Given the description of an element on the screen output the (x, y) to click on. 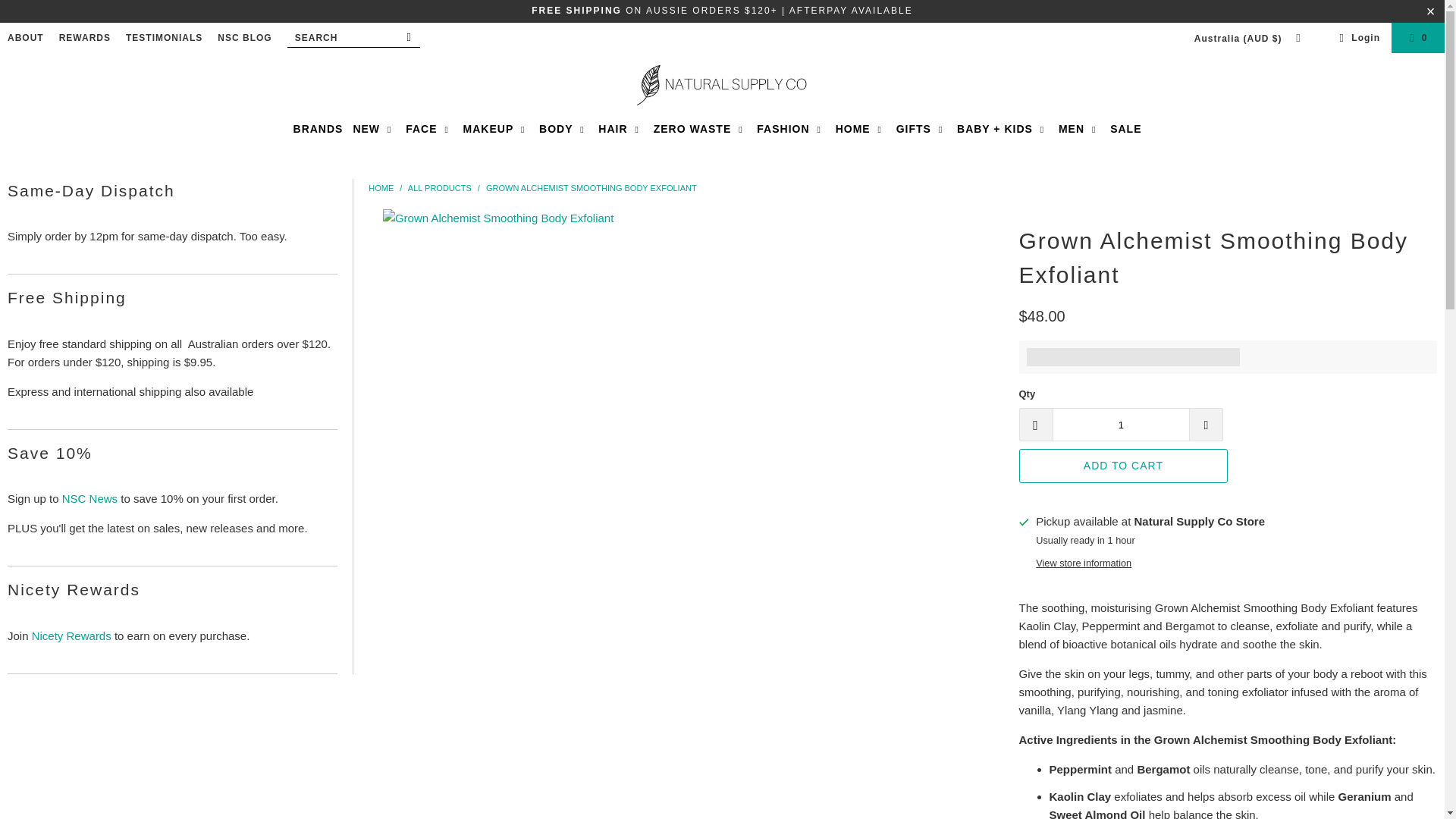
All Products (439, 187)
My Account  (1357, 37)
1 (1121, 424)
Natural Supply Co (721, 85)
Natural Supply Co (380, 187)
